Given the description of an element on the screen output the (x, y) to click on. 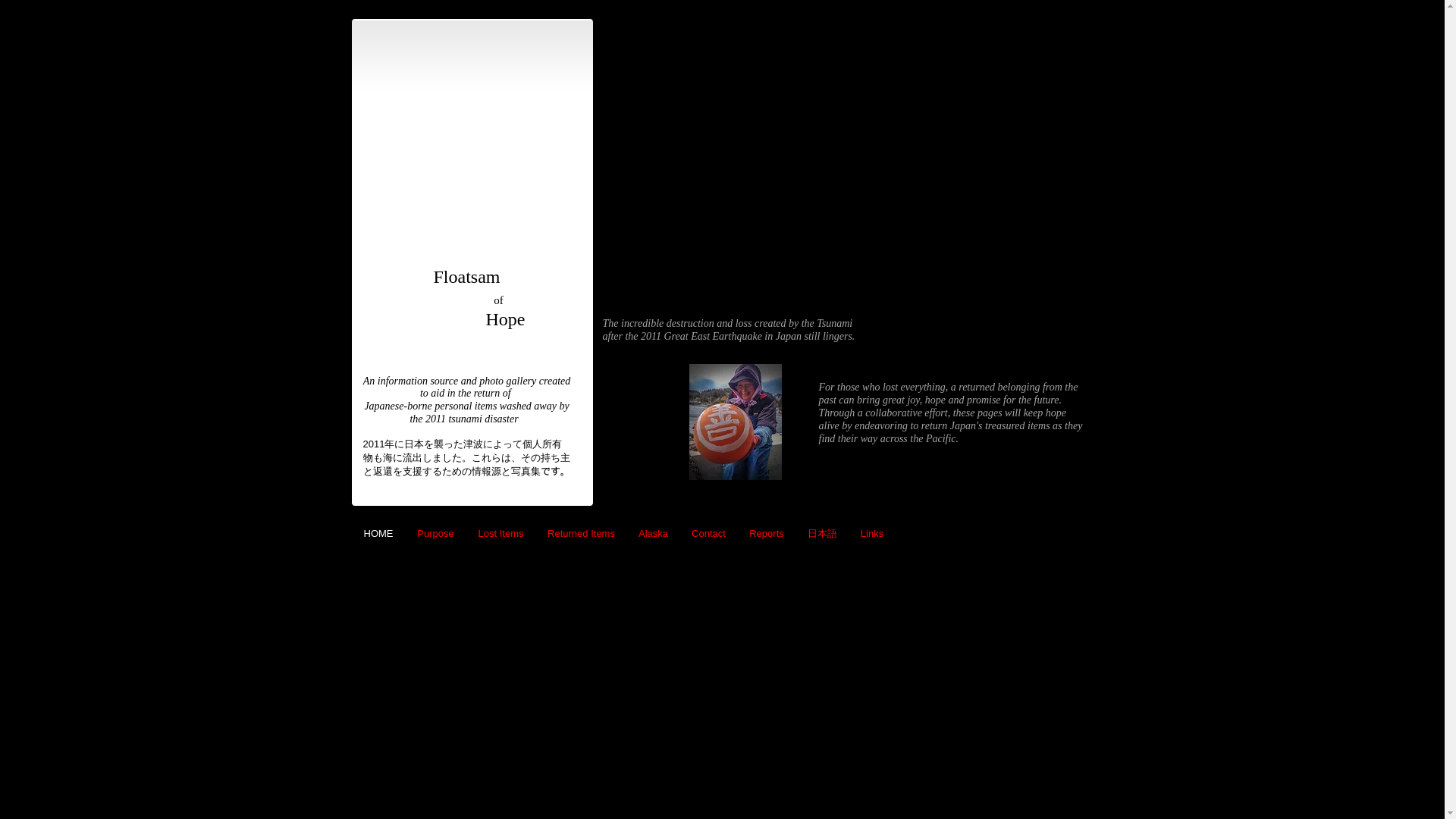
Purpose (434, 533)
HOME (379, 533)
Links (871, 533)
Lost Items (500, 533)
Contact (707, 533)
Alaska (652, 533)
Reports (765, 533)
Returned Items (580, 533)
